Given the description of an element on the screen output the (x, y) to click on. 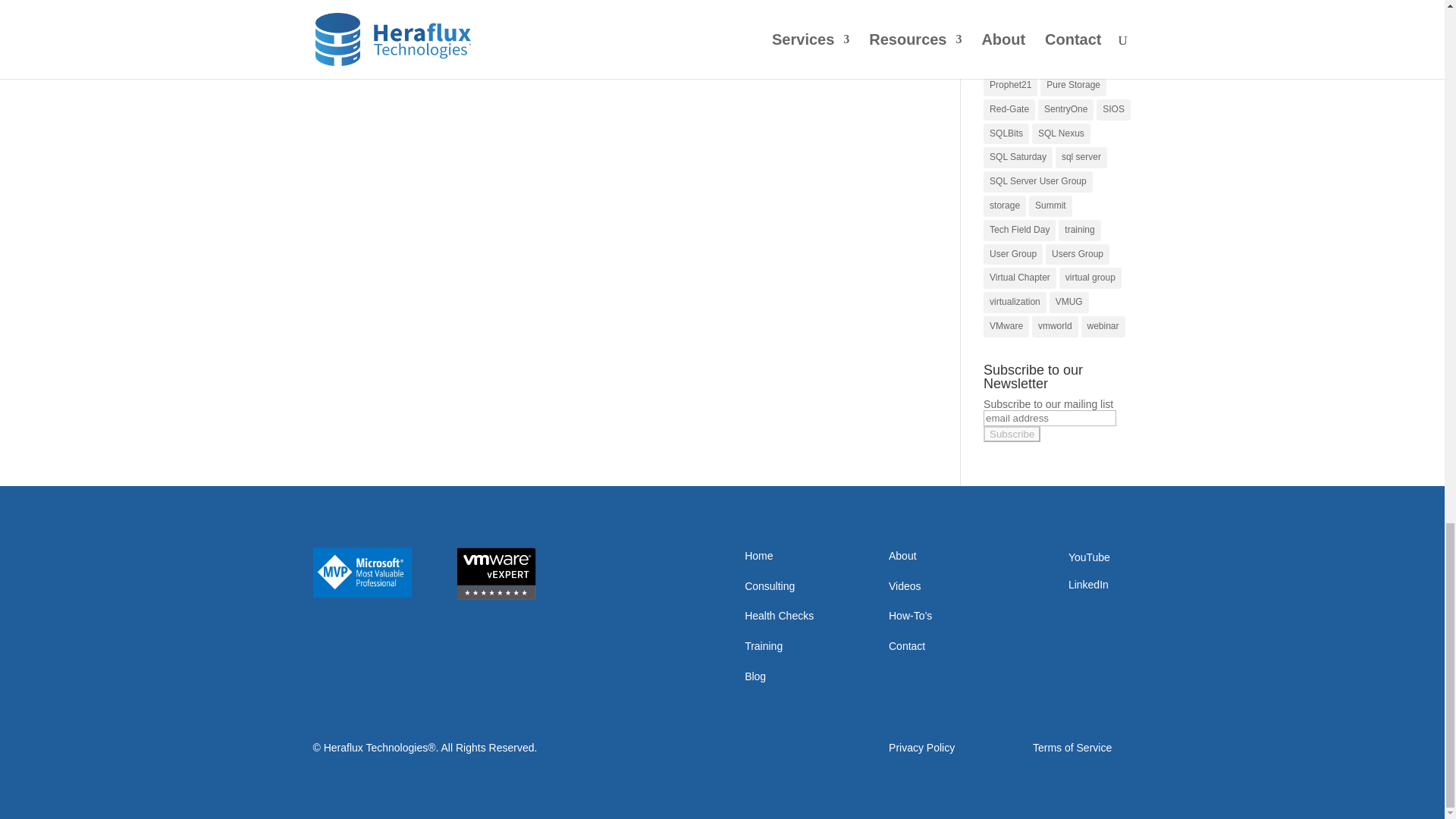
VMware vExpert (496, 573)
Microsoft MVP (361, 572)
Subscribe (1012, 433)
